Given the description of an element on the screen output the (x, y) to click on. 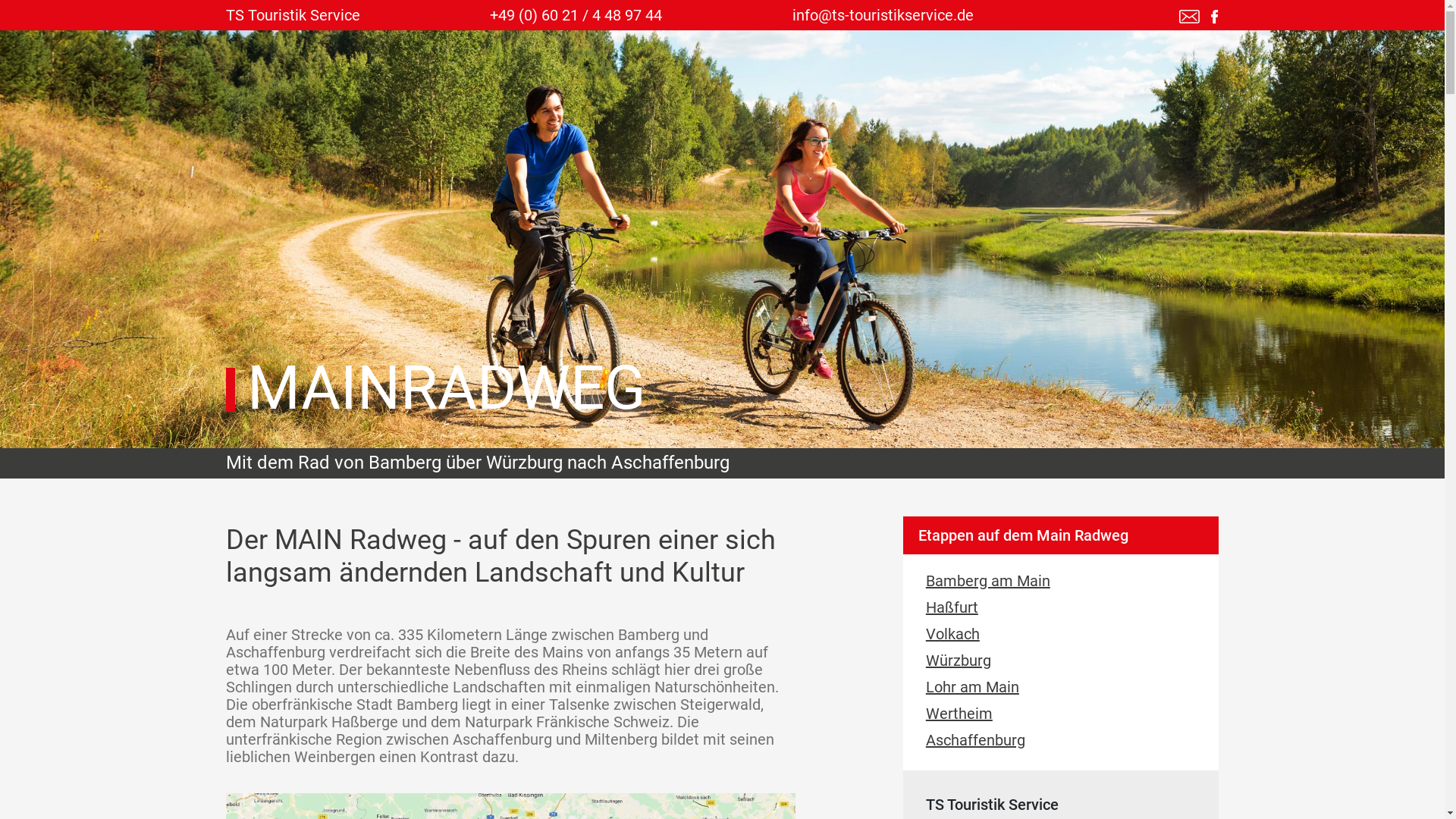
Bamberg am Main Element type: text (1064, 582)
Aschaffenburg Element type: text (1064, 741)
Lohr am Main Element type: text (1064, 688)
Wertheim Element type: text (1064, 715)
Volkach Element type: text (1064, 635)
